Given the description of an element on the screen output the (x, y) to click on. 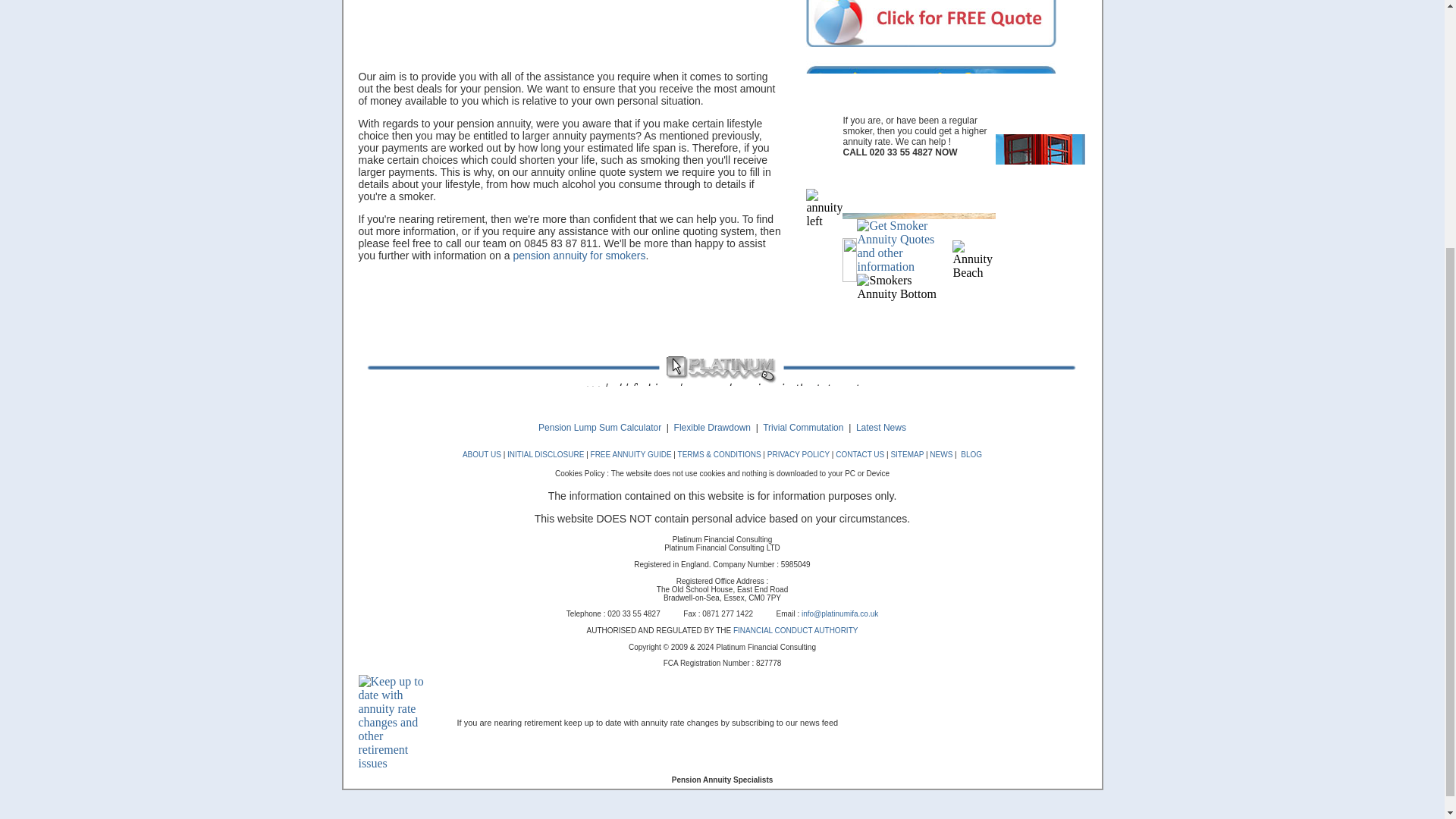
Latest News (880, 427)
ABOUT US (481, 454)
NEWS (941, 454)
 BLOG (969, 454)
pension annuity for smokers (578, 255)
 Trivial Commutation (801, 427)
SITEMAP (907, 454)
FINANCIAL CONDUCT AUTHORITY (795, 630)
PRIVACY POLICY (798, 454)
INITIAL DISCLOSURE (544, 454)
Pension Lump Sum Calculator (599, 427)
FREE ANNUITY GUIDE (631, 454)
Flexible Drawdown (712, 427)
CONTACT US (859, 454)
